Given the description of an element on the screen output the (x, y) to click on. 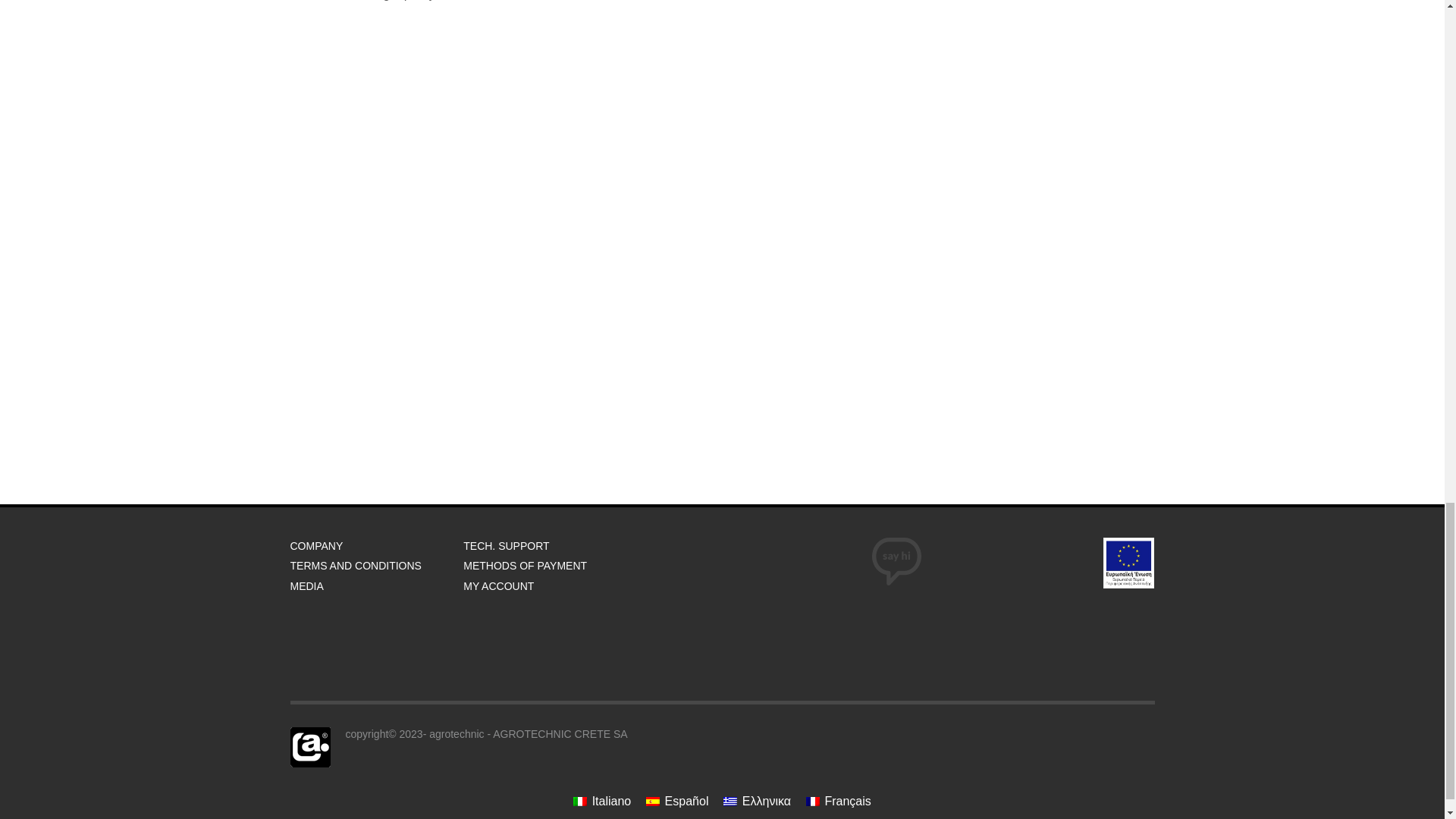
MEDIA (376, 586)
Italiano (602, 801)
COMPANY (376, 545)
TECH. SUPPORT (550, 545)
MY ACCOUNT (550, 586)
METHODS OF PAYMENT (550, 565)
TERMS AND CONDITIONS (376, 565)
